Given the description of an element on the screen output the (x, y) to click on. 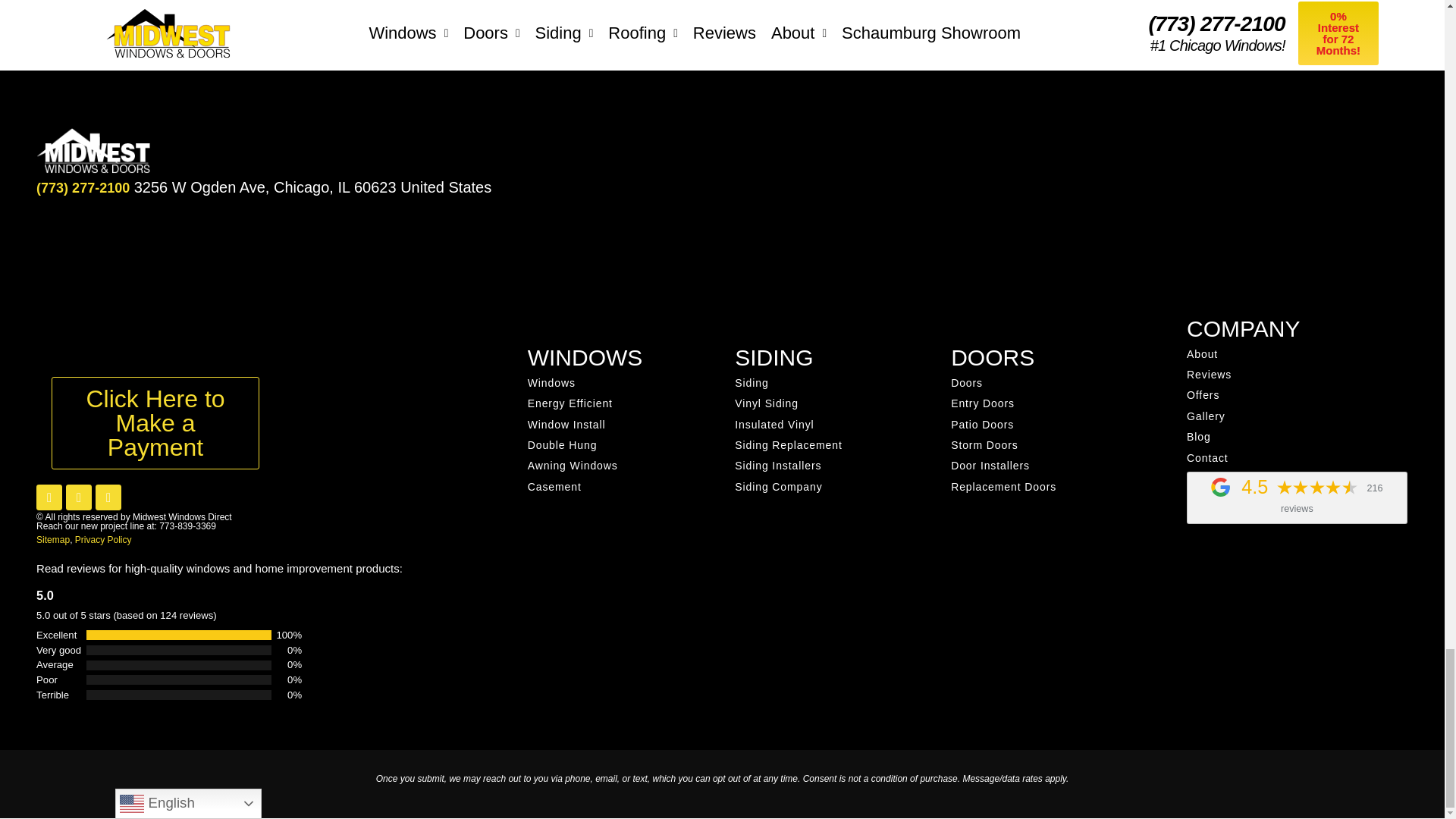
Powered by Google (1220, 486)
